Given the description of an element on the screen output the (x, y) to click on. 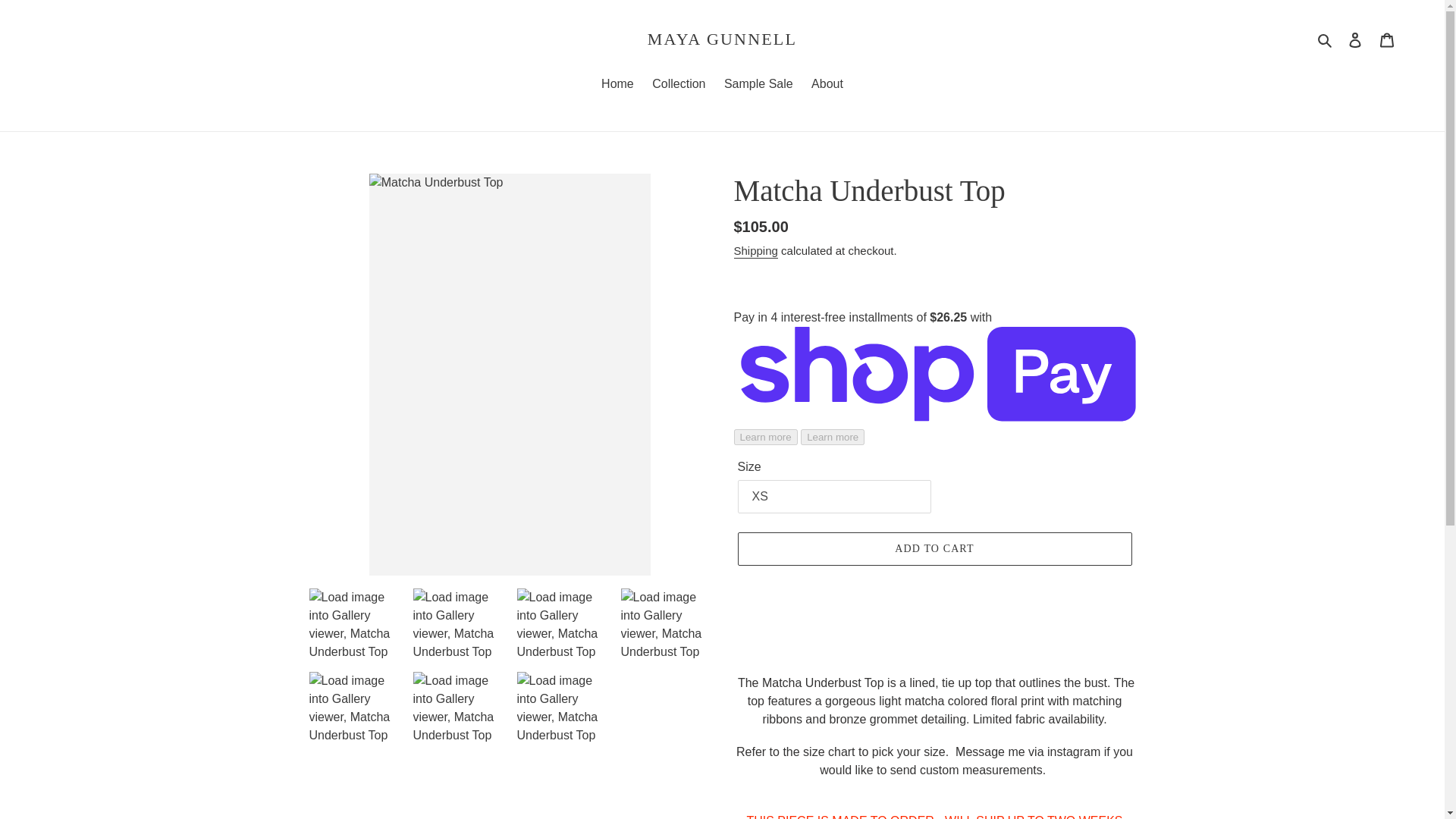
Cart (1387, 39)
ADD TO CART (933, 548)
About (826, 85)
MAYA GUNNELL (721, 39)
Home (618, 85)
Collection (679, 85)
Search (1326, 39)
Shipping (755, 251)
Log in (1355, 39)
Sample Sale (758, 85)
